Given the description of an element on the screen output the (x, y) to click on. 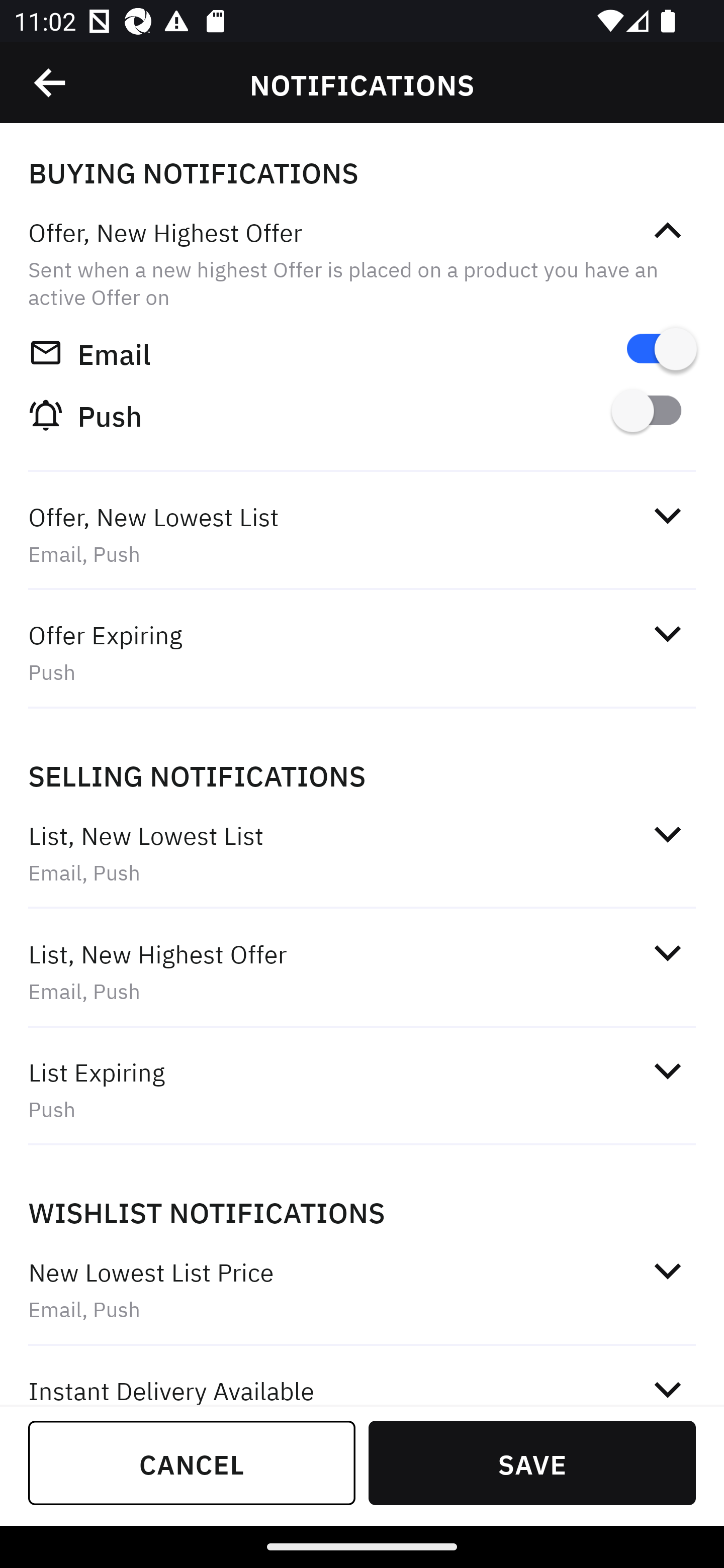
 (50, 83)
 (667, 231)
Offer, New Lowest List  Email, Push (361, 534)
 (667, 514)
Offer Expiring  Push (361, 652)
 (667, 633)
List, New Lowest List  Email, Push (361, 852)
 (667, 834)
List, New Highest Offer  Email, Push (361, 971)
 (667, 952)
List Expiring  Push (361, 1089)
 (667, 1070)
New Lowest List Price  Email, Push (361, 1290)
 (667, 1270)
Instant Delivery Available  (361, 1377)
 (667, 1385)
CANCEL (191, 1462)
SAVE (531, 1462)
